Given the description of an element on the screen output the (x, y) to click on. 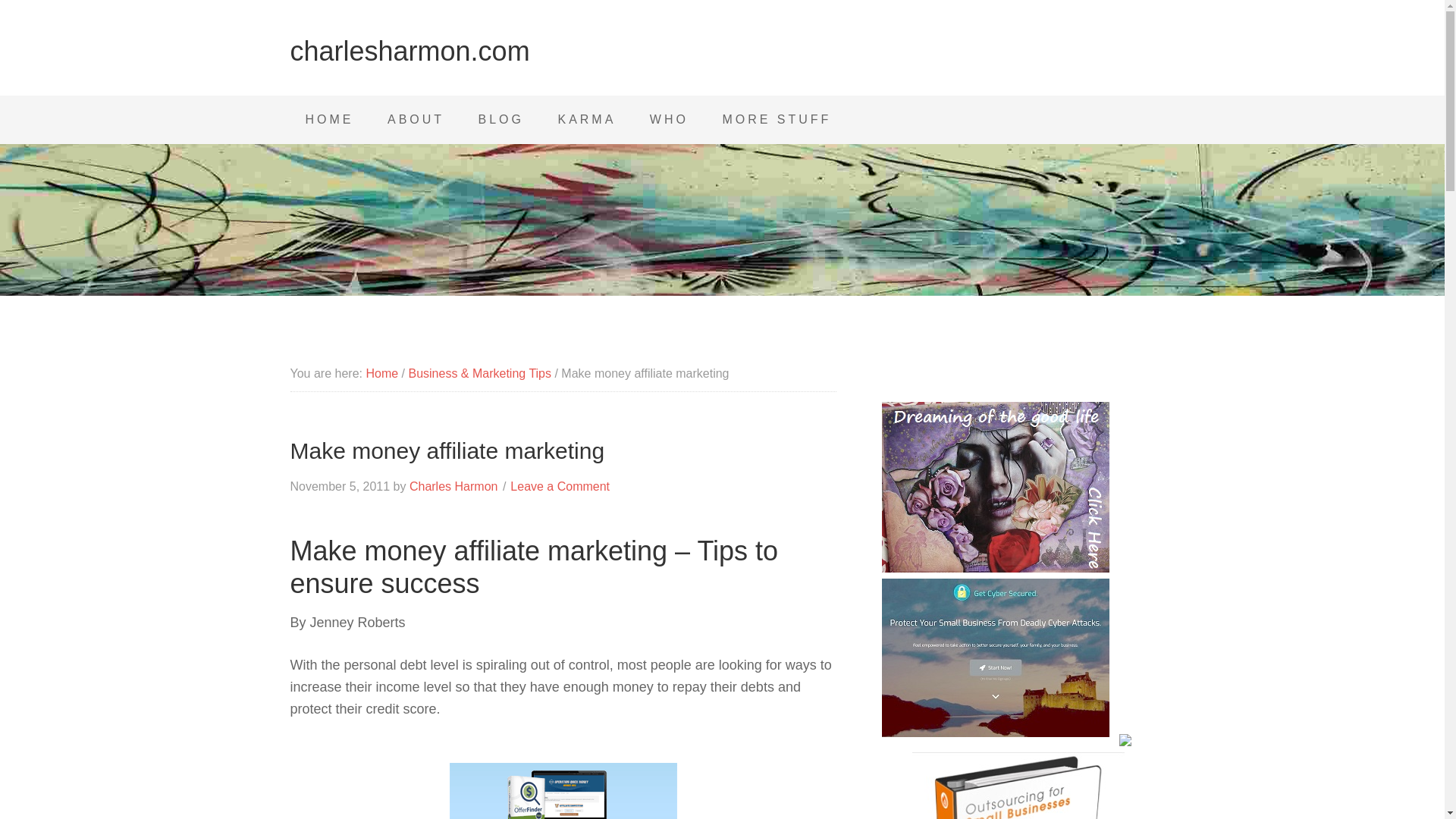
Leave a Comment (560, 486)
HOME (328, 119)
Charles Harmon (453, 486)
charlesharmon.com (409, 51)
Home (381, 373)
KARMA (585, 119)
ABOUT (416, 119)
MORE STUFF (775, 119)
WHO (668, 119)
BLOG (500, 119)
